Given the description of an element on the screen output the (x, y) to click on. 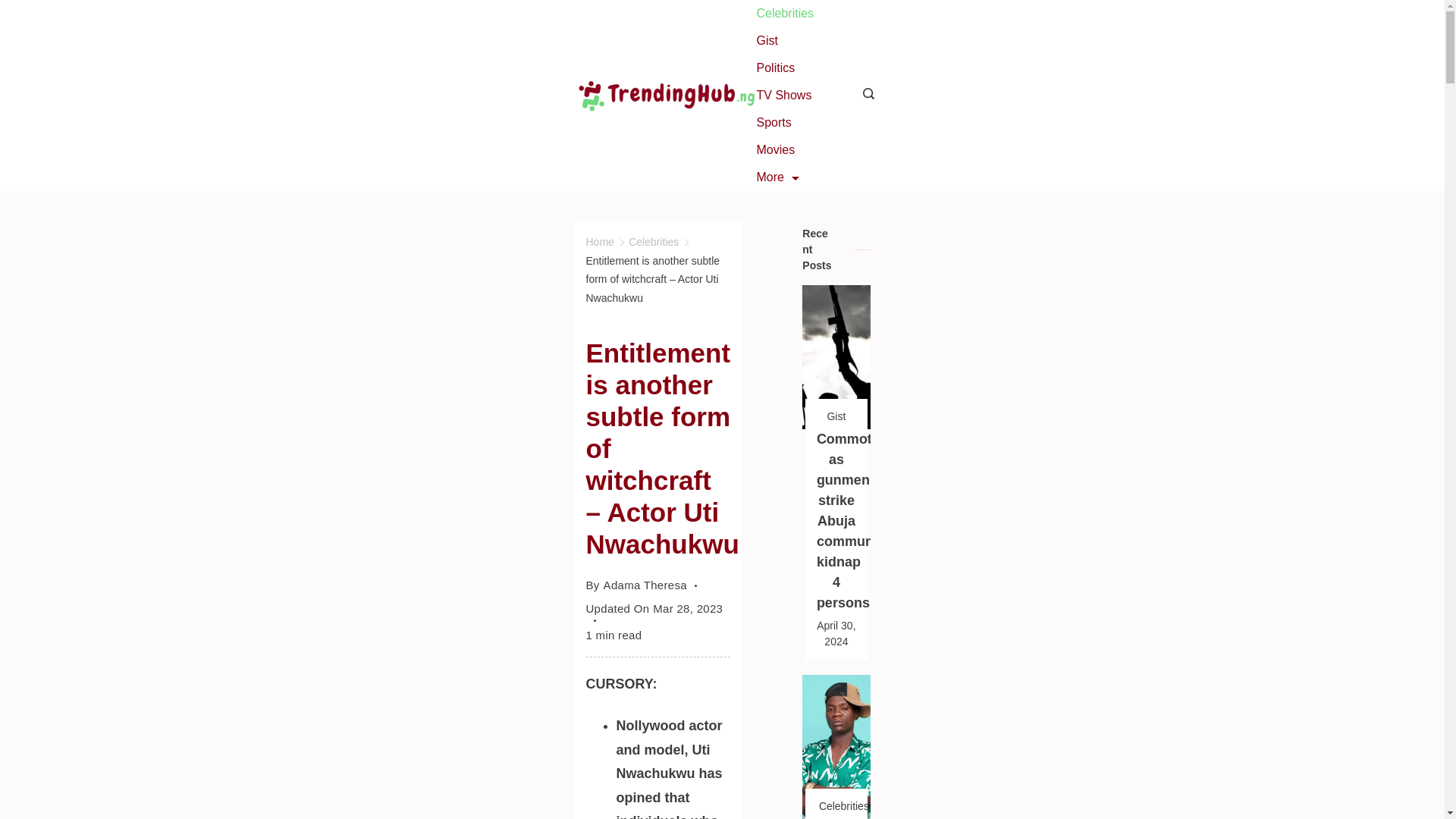
Gist (766, 40)
TV Shows (782, 94)
Home (598, 241)
Sports (772, 122)
Politics (774, 67)
Movies (774, 149)
Celebrities (653, 241)
More (776, 176)
Celebrities (784, 13)
